Given the description of an element on the screen output the (x, y) to click on. 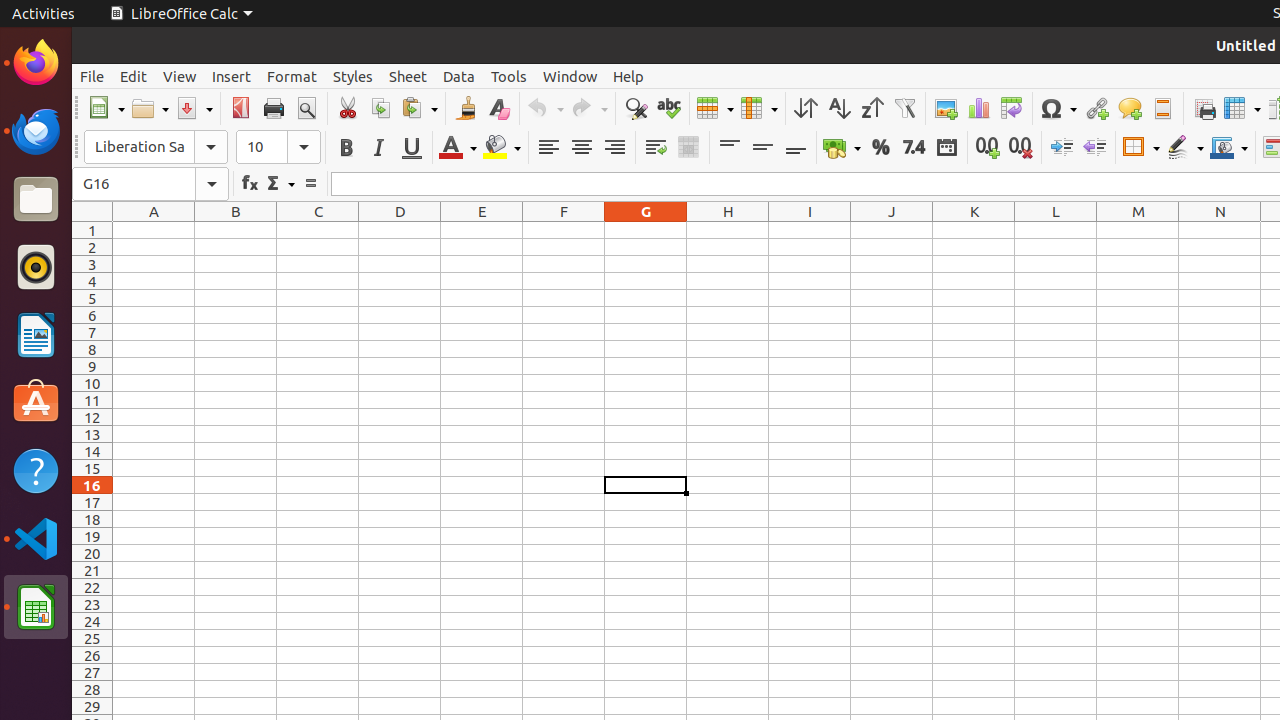
AutoFilter Element type: push-button (904, 108)
LibreOffice Calc Element type: menu (181, 13)
I1 Element type: table-cell (810, 230)
Row Element type: push-button (715, 108)
New Element type: push-button (106, 108)
